Given the description of an element on the screen output the (x, y) to click on. 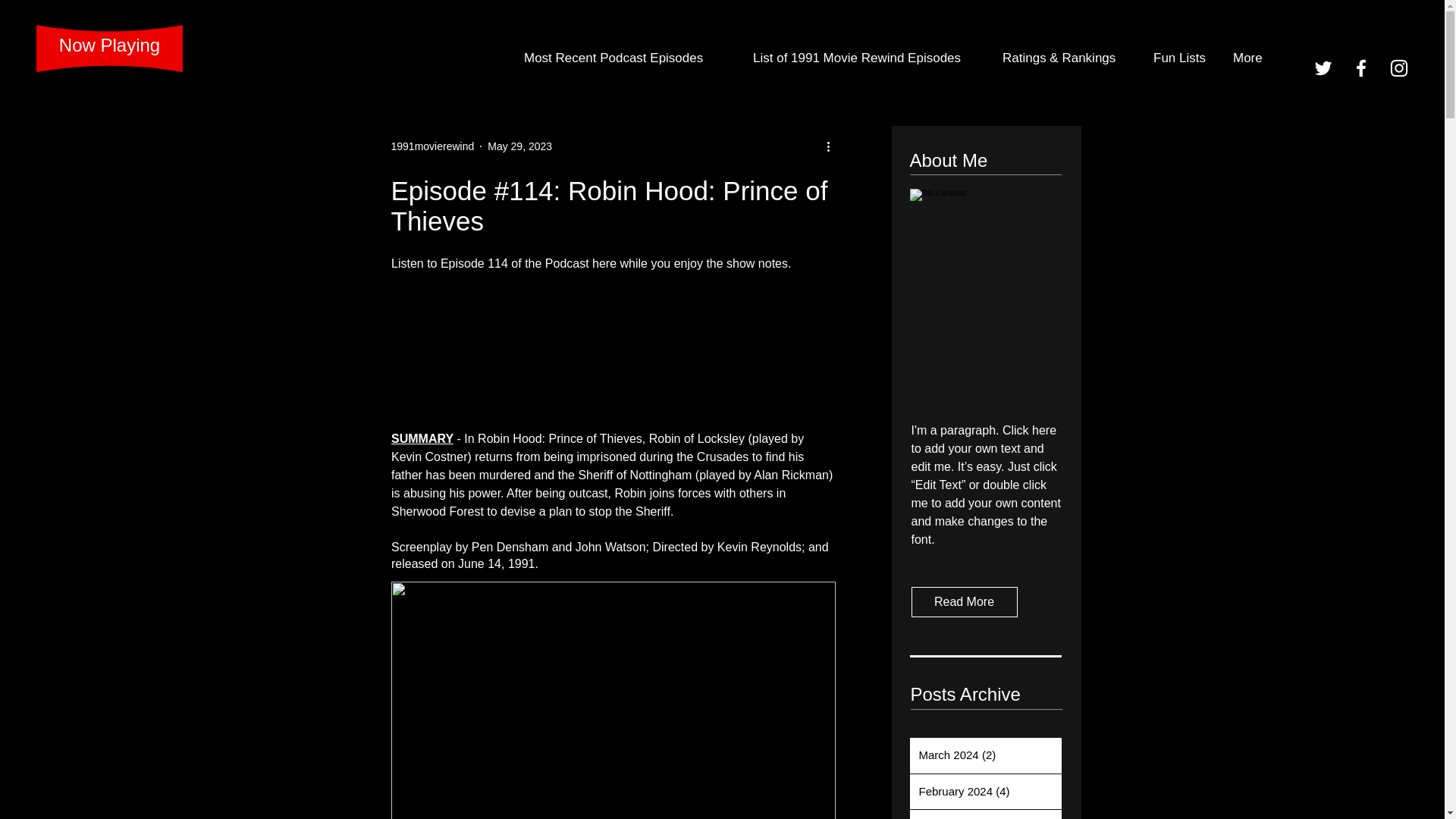
1991movierewind (432, 145)
Read More (964, 602)
Fun Lists (1181, 57)
Most Recent Podcast Episodes (626, 57)
Now Playing (109, 45)
List of 1991 Movie Rewind Episodes (866, 57)
May 29, 2023 (519, 145)
